Given the description of an element on the screen output the (x, y) to click on. 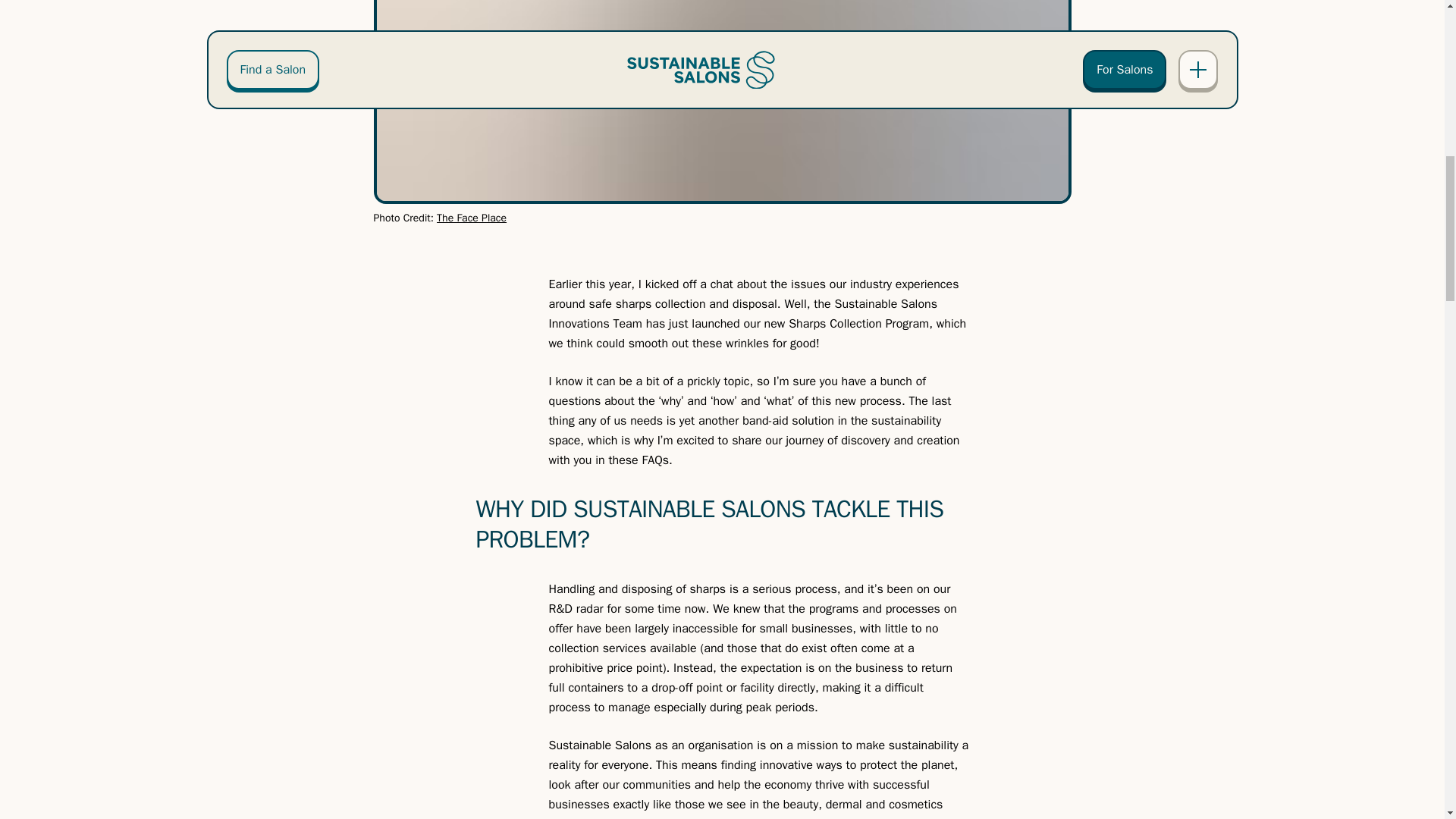
The Face Place (471, 217)
